Given the description of an element on the screen output the (x, y) to click on. 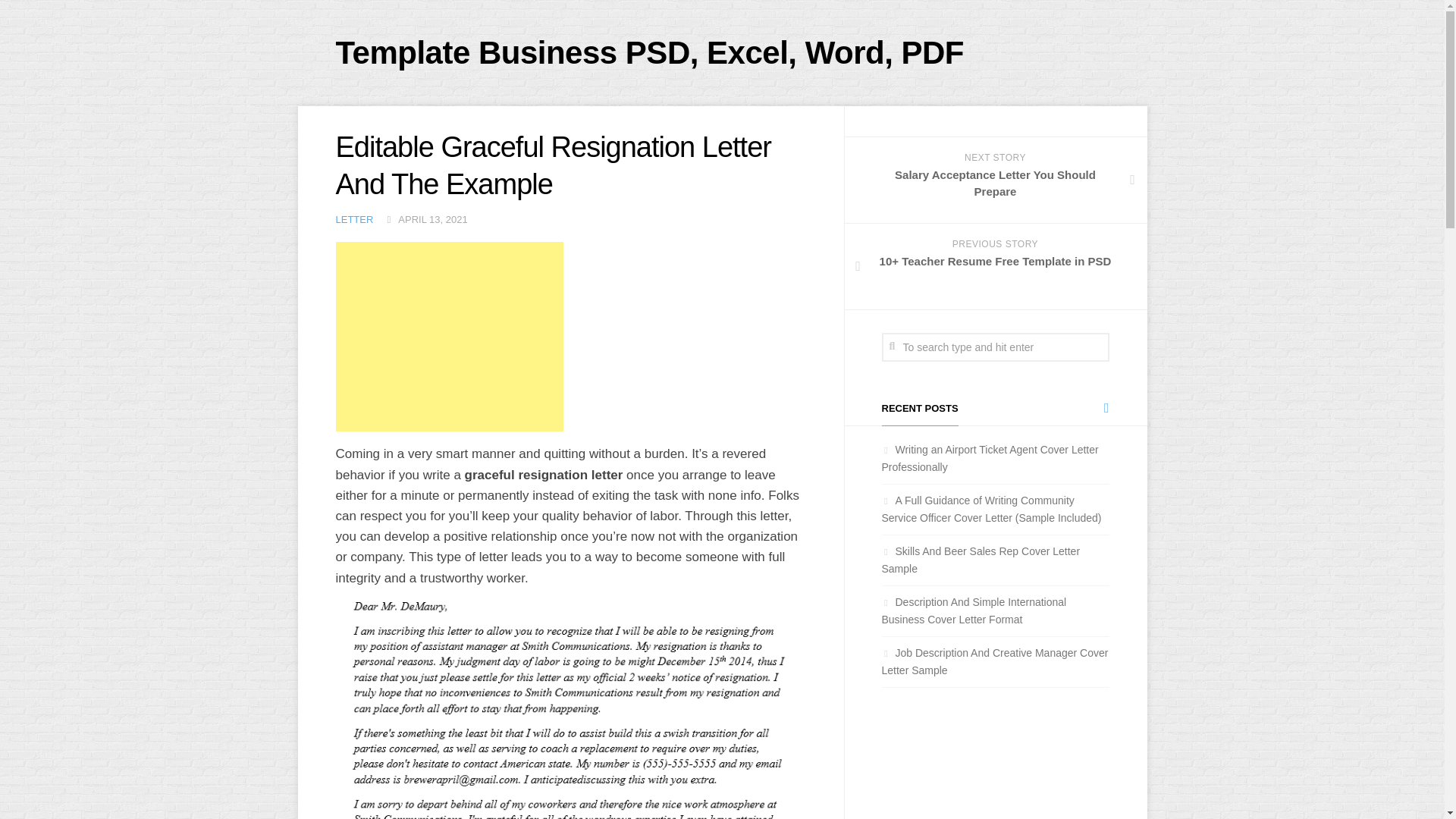
LETTER (353, 219)
To search type and hit enter (994, 346)
Skills And Beer Sales Rep Cover Letter Sample (980, 559)
Advertisement (448, 336)
Job Description And Creative Manager Cover Letter Sample (994, 661)
Writing an Airport Ticket Agent Cover Letter Professionally (995, 179)
Template Business PSD, Excel, Word, PDF (988, 458)
To search type and hit enter (648, 53)
